Given the description of an element on the screen output the (x, y) to click on. 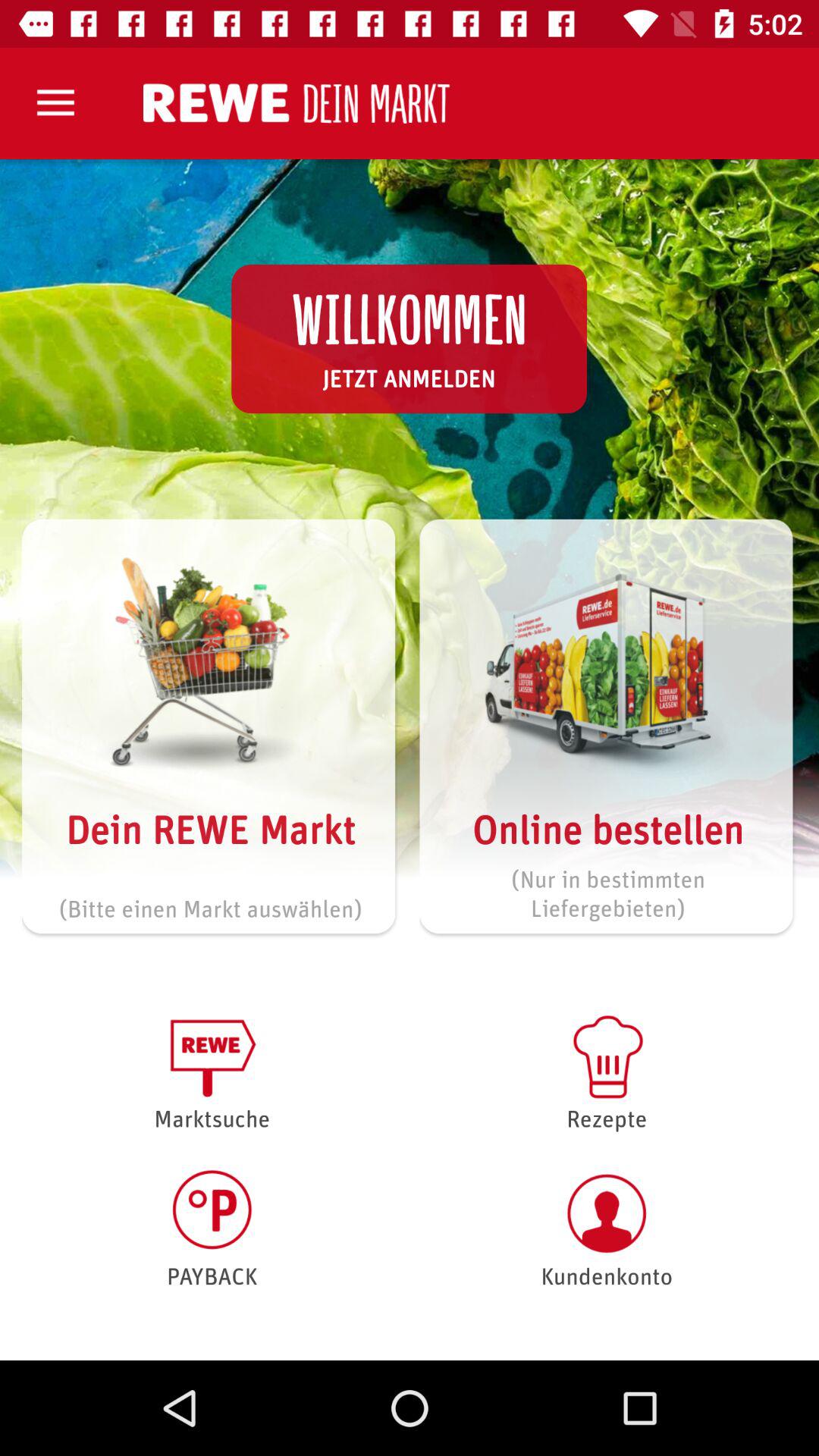
launch rezepte (606, 1070)
